Given the description of an element on the screen output the (x, y) to click on. 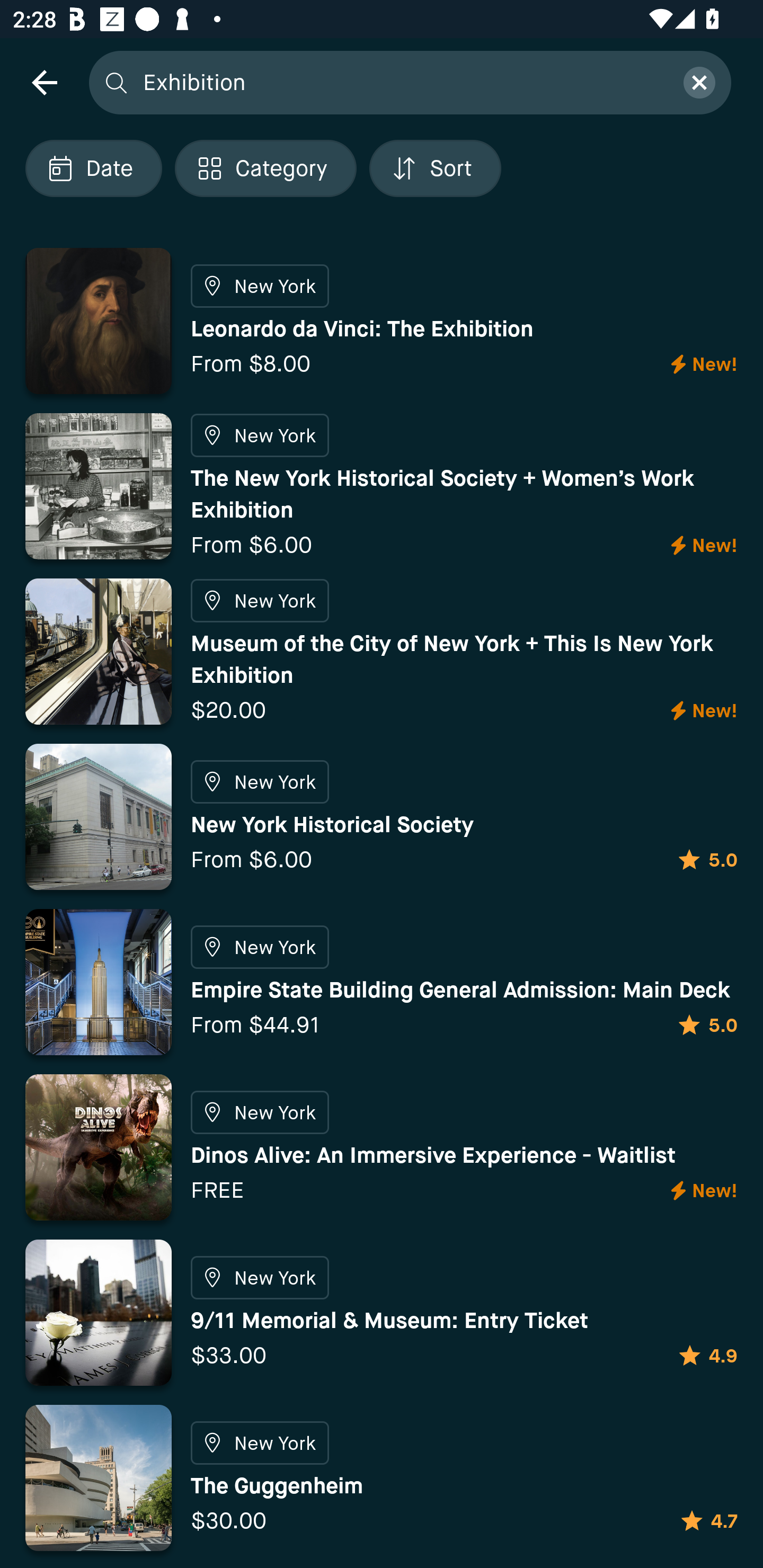
navigation icon (44, 81)
Exhibition (402, 81)
Localized description Date (93, 168)
Localized description Category (265, 168)
Localized description Sort (435, 168)
